Given the description of an element on the screen output the (x, y) to click on. 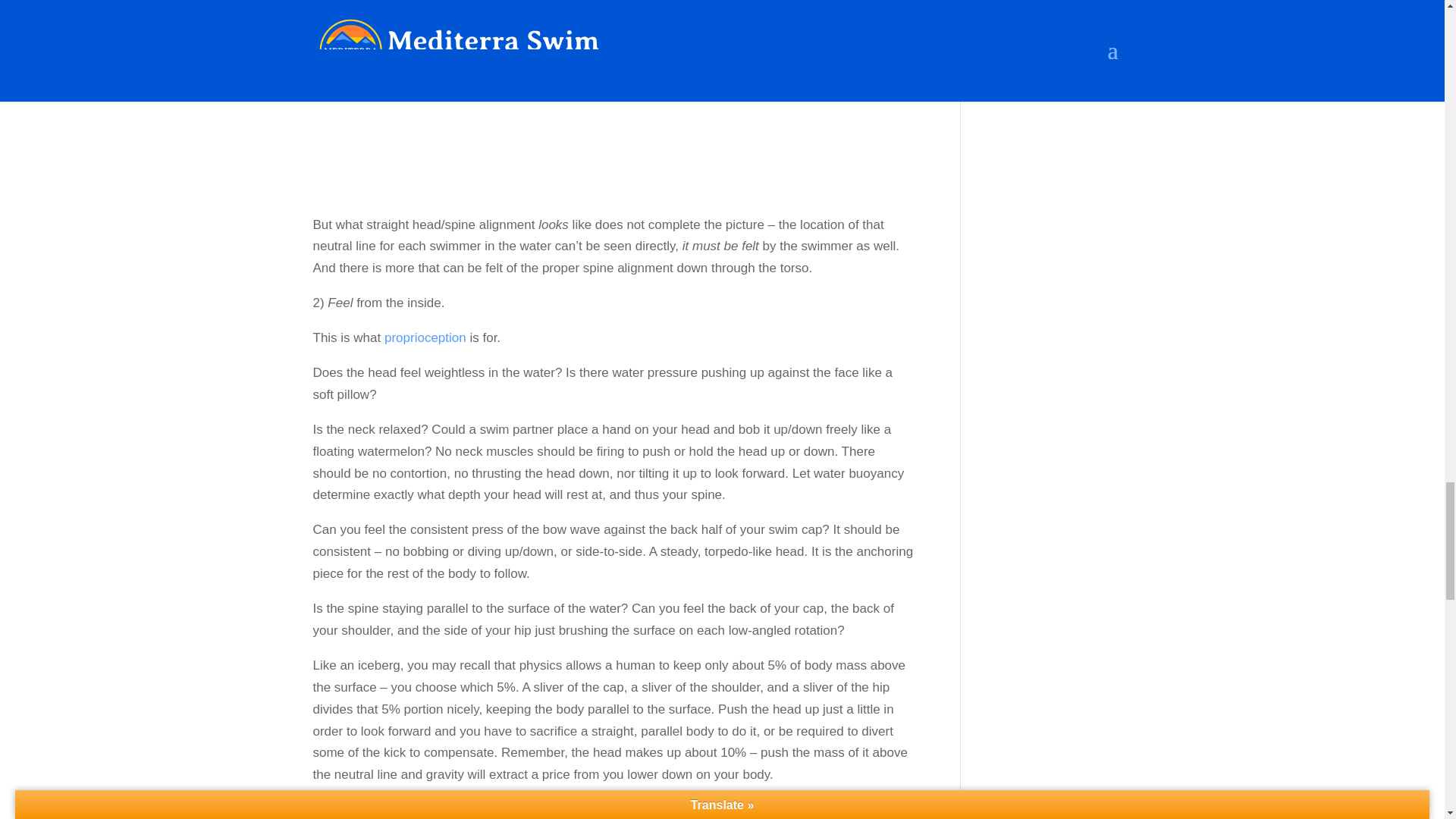
Drills For Proprioception (424, 337)
proprioception (424, 337)
